Given the description of an element on the screen output the (x, y) to click on. 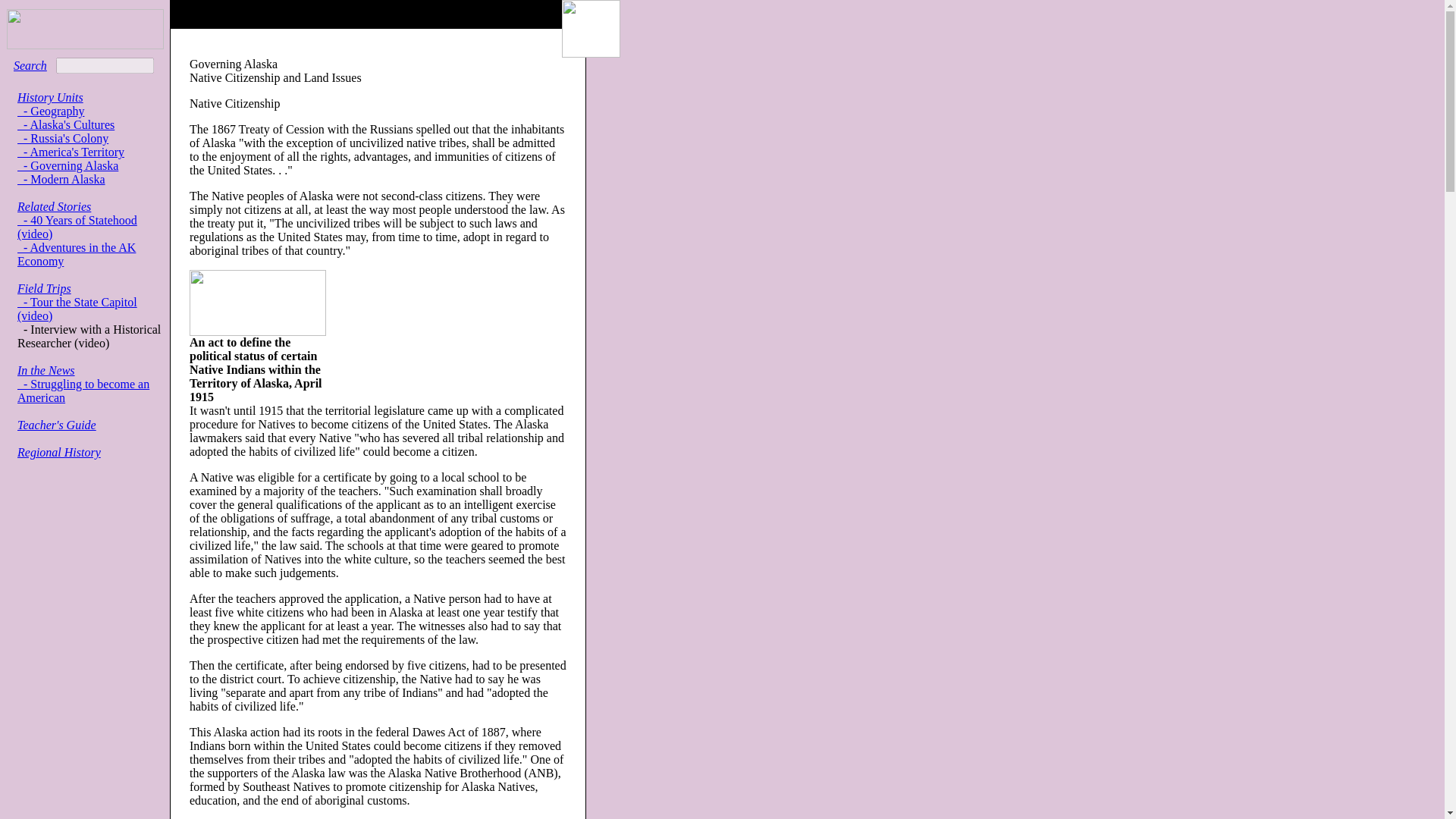
  - Governing Alaska (67, 164)
Teacher's Guide (56, 424)
Search (29, 65)
Field Trips (44, 287)
In the News (46, 369)
  - Alaska's Cultures (66, 124)
  - Geography (50, 110)
History Units (49, 97)
  - Struggling to become an American (83, 390)
  - Adventures in the AK Economy (76, 253)
